Given the description of an element on the screen output the (x, y) to click on. 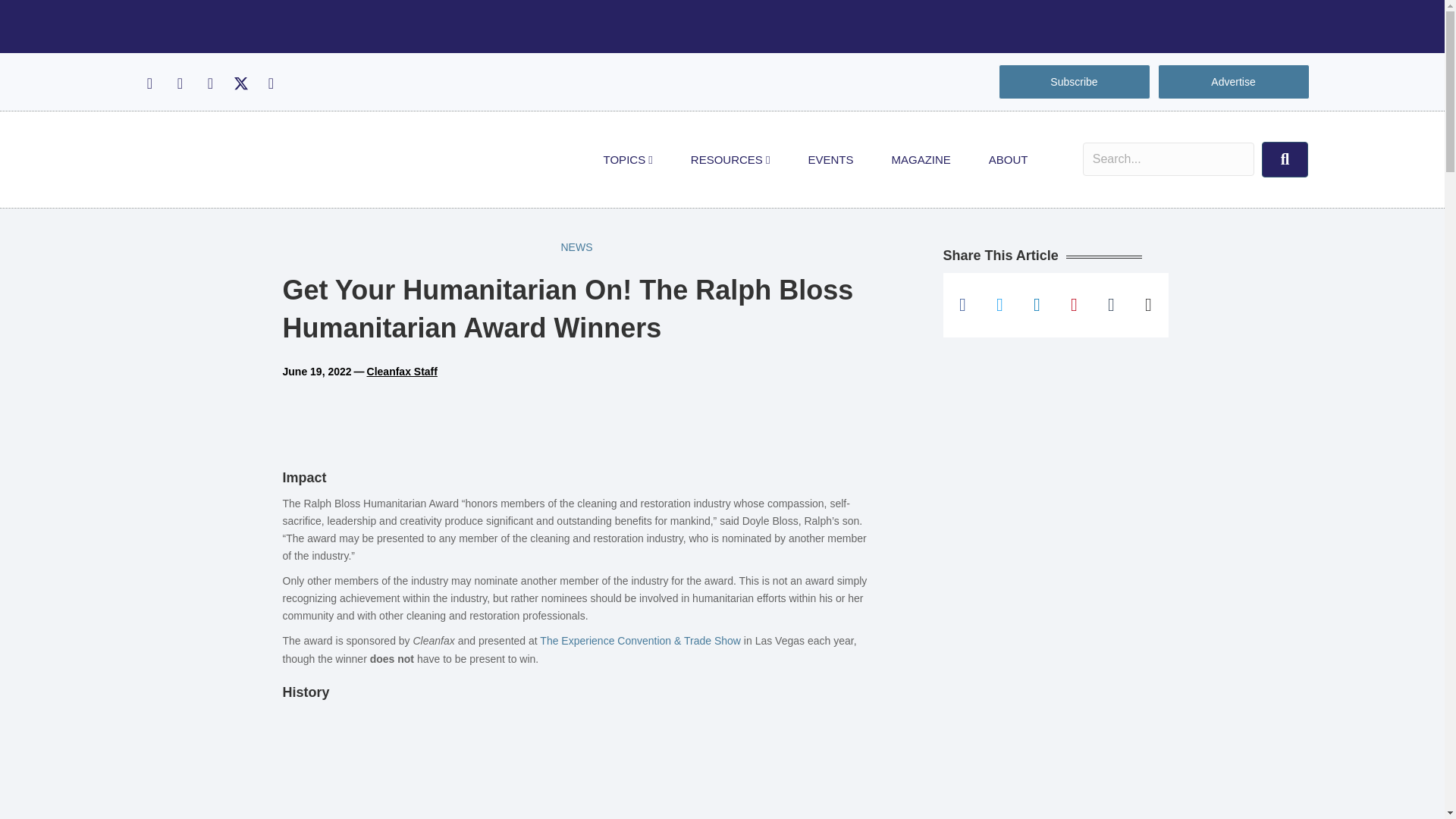
EVENTS (830, 159)
YouTube (270, 83)
ABOUT (1007, 159)
LinkedIn (209, 83)
Advertise (1232, 81)
RESOURCES (730, 159)
Facebook (149, 83)
Cleanfax Staff (402, 371)
Instagram (179, 83)
Subscribe (1073, 81)
MAGAZINE (920, 159)
TOPICS (628, 159)
NEWS (575, 247)
